Given the description of an element on the screen output the (x, y) to click on. 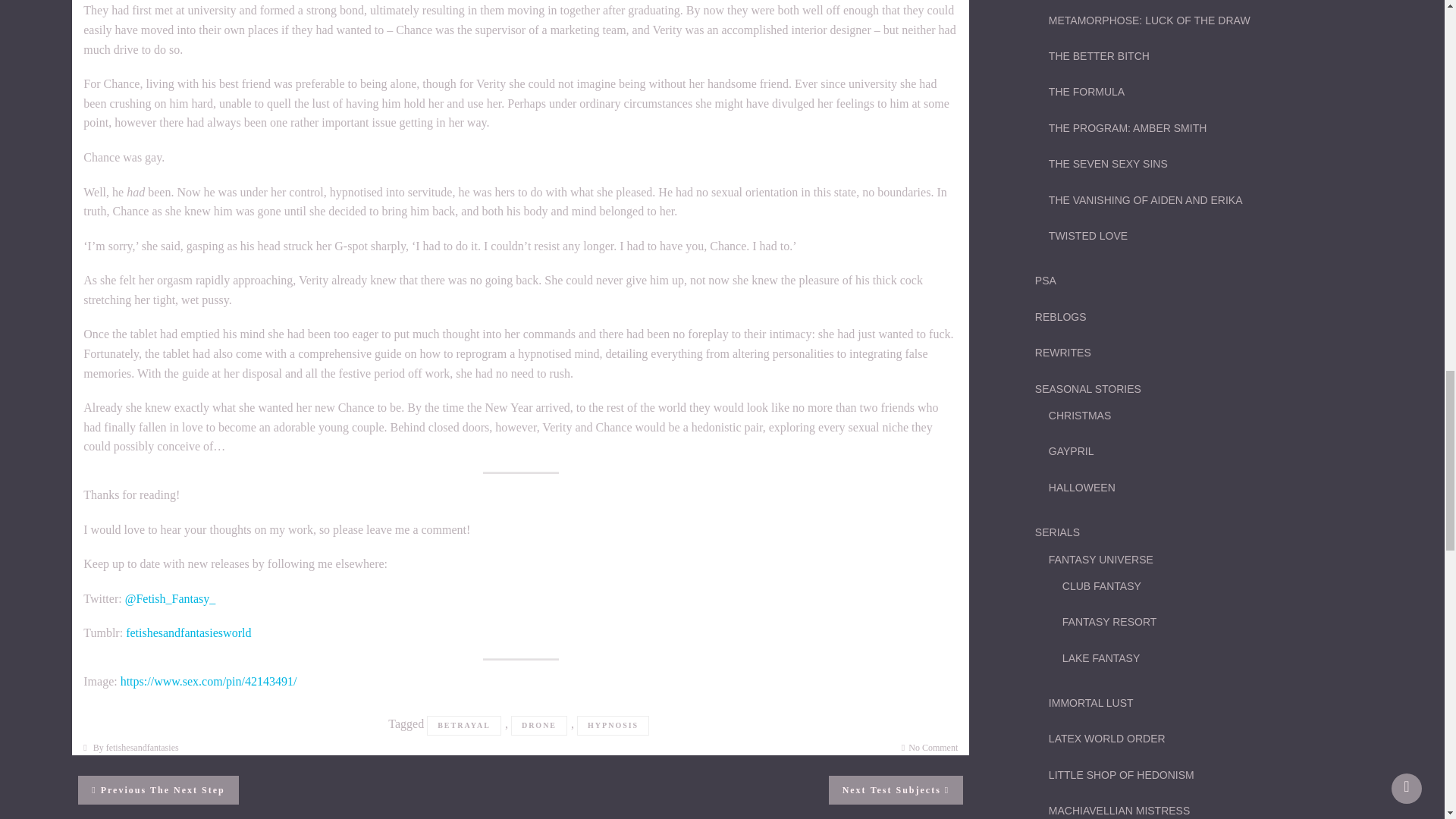
fetishesandfantasies (142, 747)
BETRAYAL (158, 789)
fetishesandfantasiesworld (463, 725)
DRONE (895, 789)
HYPNOSIS (187, 632)
